Given the description of an element on the screen output the (x, y) to click on. 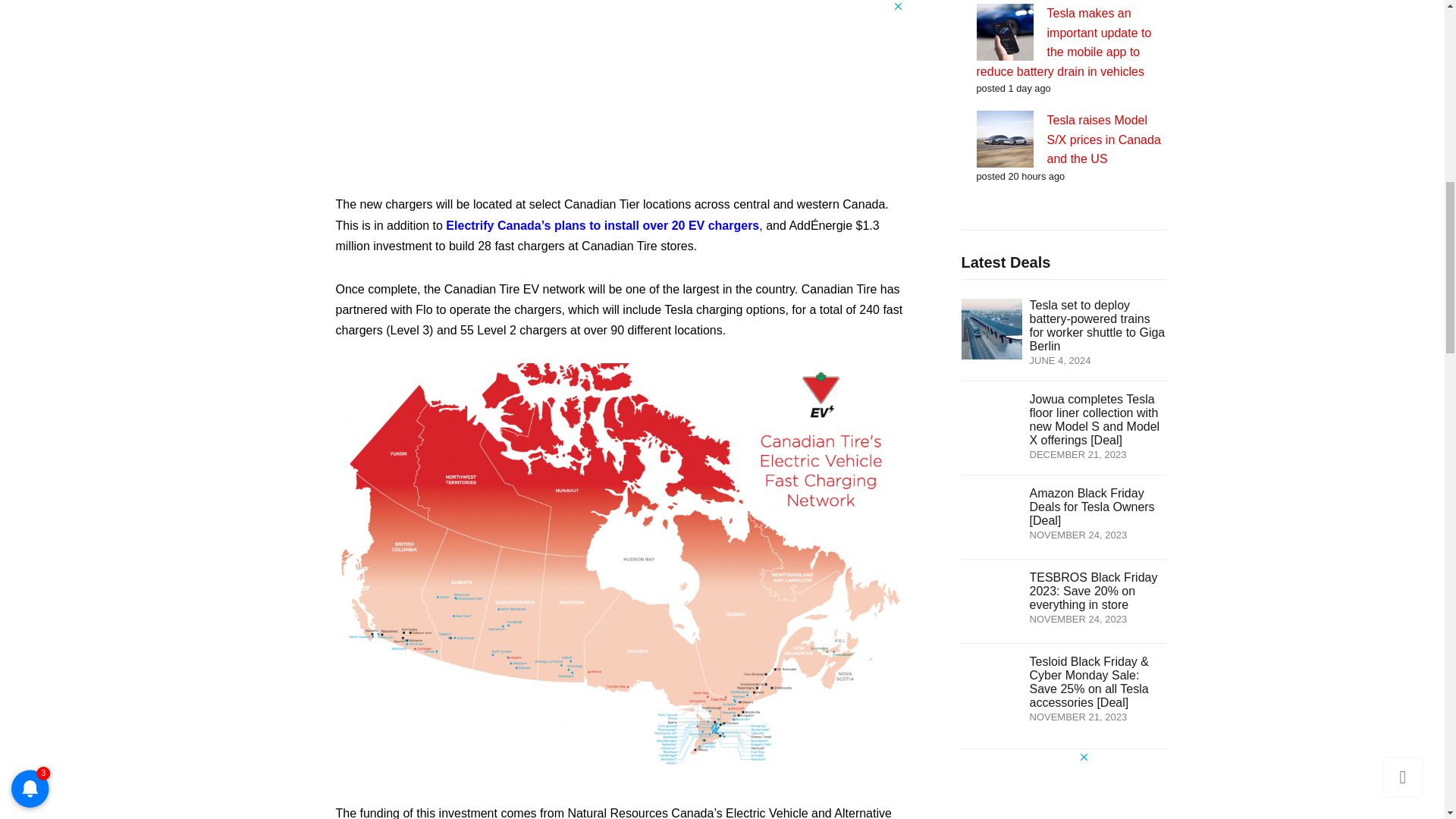
3rd party ad content (1062, 795)
3rd party ad content (619, 69)
